Given the description of an element on the screen output the (x, y) to click on. 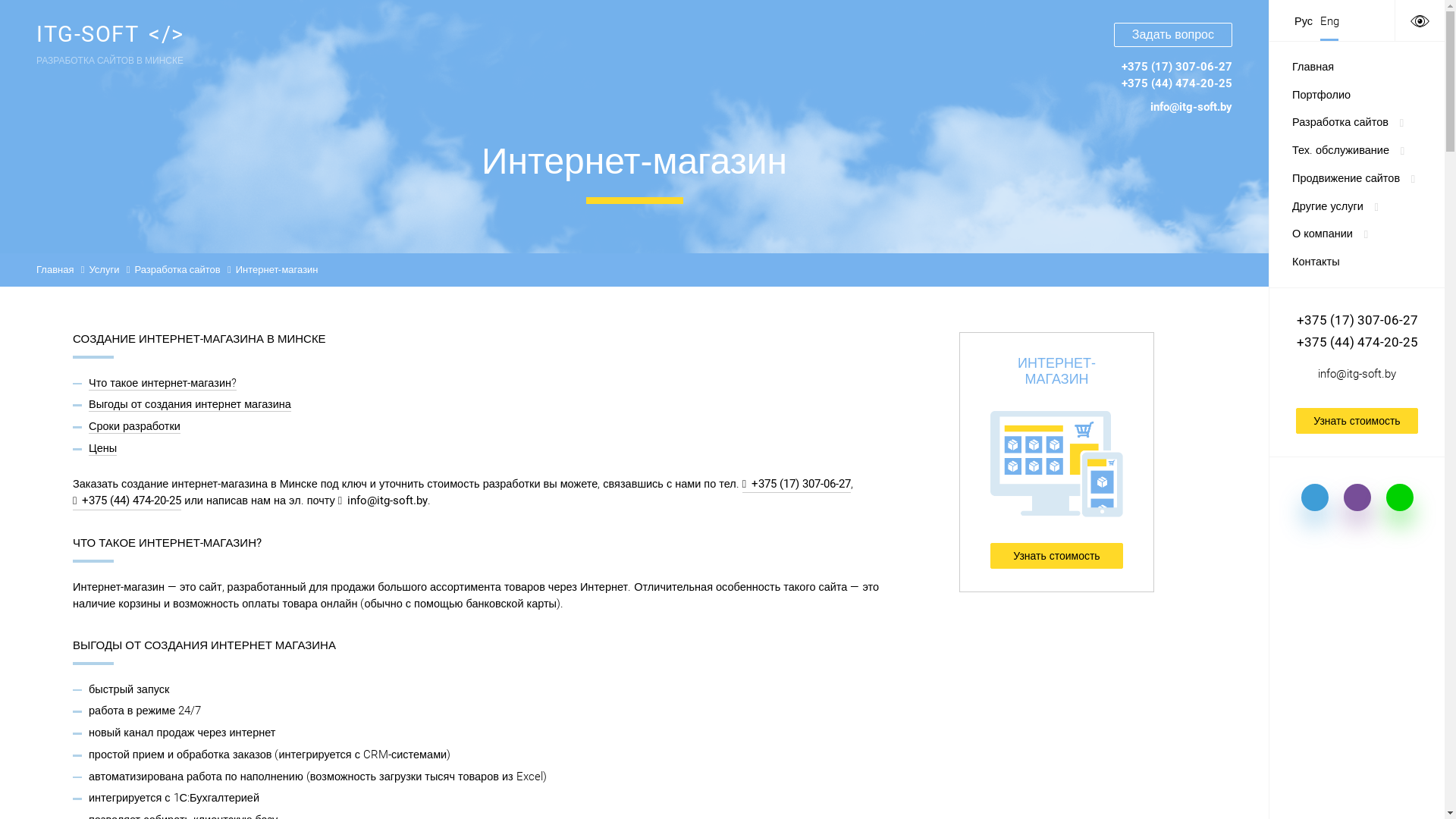
+375 (44) 474-20-25 Element type: text (1356, 341)
+375 (17) 307-06-27 Element type: text (796, 484)
+375 (44) 474-20-25 Element type: text (126, 501)
+375 (17) 307-06-27 Element type: text (1176, 66)
+375 (44) 474-20-25 Element type: text (1176, 83)
Eng Element type: text (1329, 21)
+375 (17) 307-06-27 Element type: text (1356, 318)
Skype Element type: hover (1314, 499)
WhatsApp Element type: hover (1399, 499)
Viber Element type: hover (1357, 499)
